Given the description of an element on the screen output the (x, y) to click on. 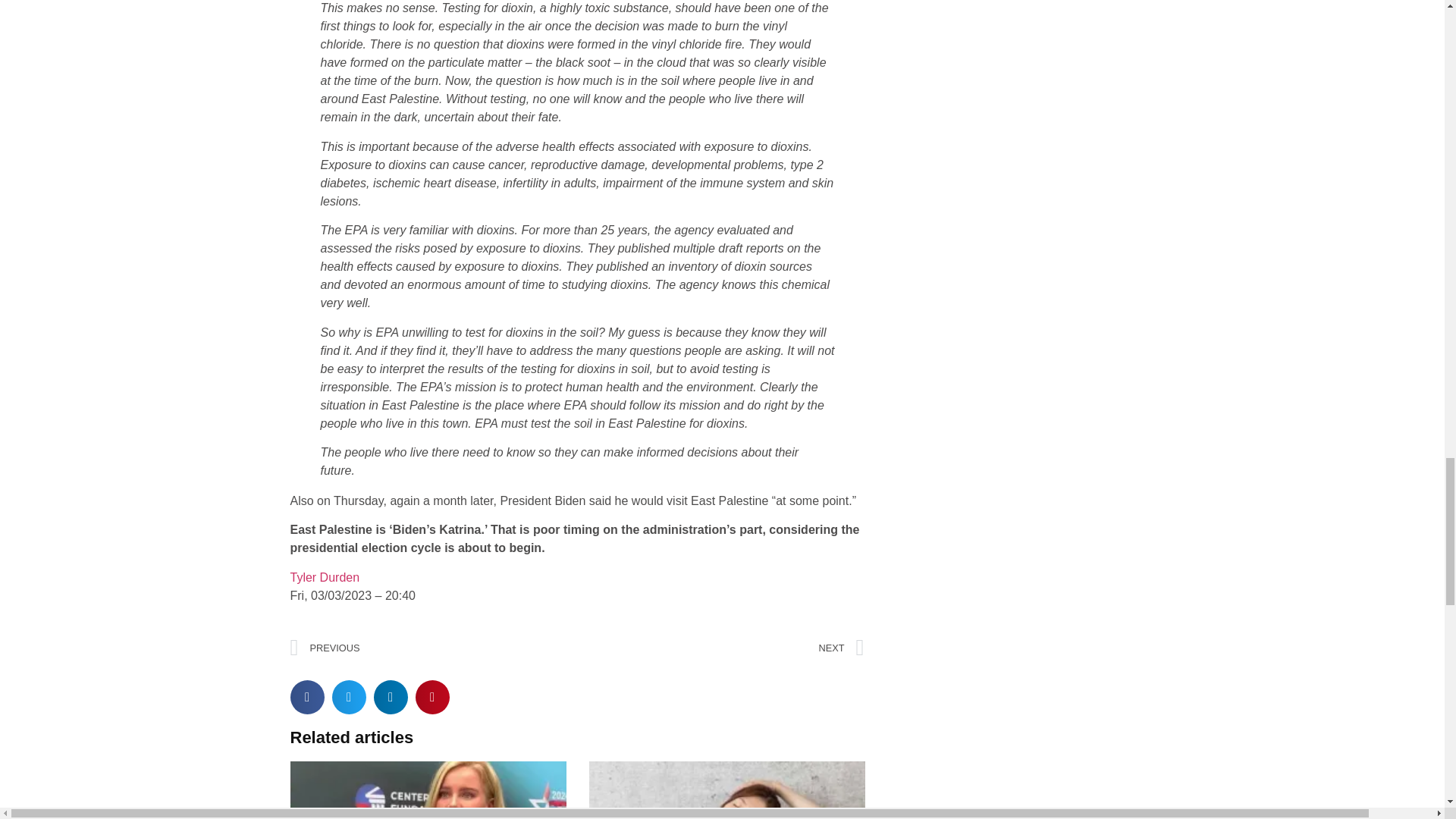
Tyler Durden (324, 576)
View user profile. (324, 576)
NEXT (720, 647)
PREVIOUS (432, 647)
